Given the description of an element on the screen output the (x, y) to click on. 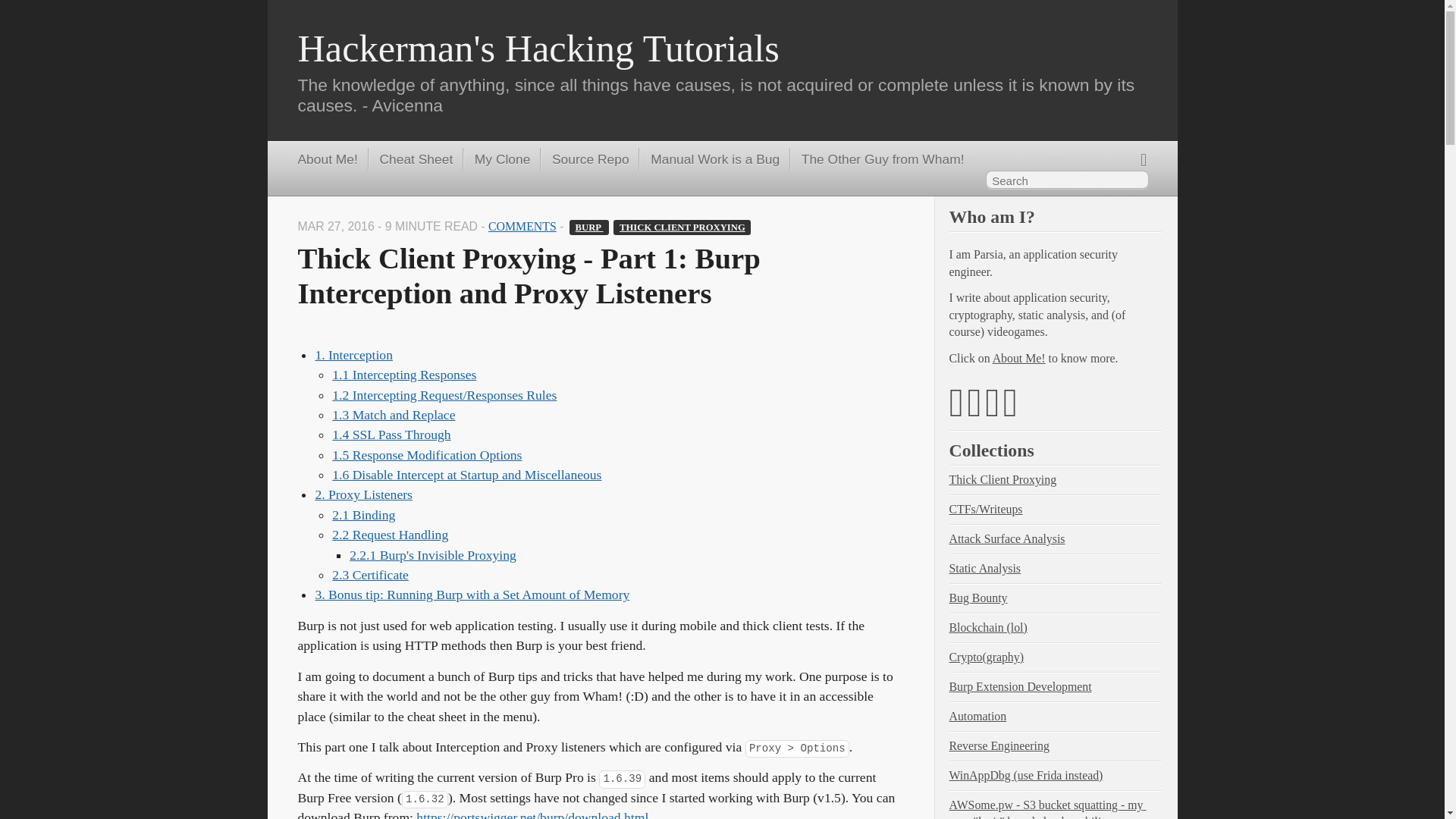
2.2.1 Burp's Invisible Proxying (432, 554)
Cheat Sheet (410, 159)
Cheat Sheet (410, 159)
1.4 SSL Pass Through (390, 434)
Source Repo (584, 159)
Source Repo (584, 159)
1.1 Intercepting Responses (403, 374)
About Me! (326, 159)
2.2 Request Handling (389, 534)
About Me! (326, 159)
3. Bonus tip: Running Burp with a Set Amount of Memory (471, 594)
THICK CLIENT PROXYING (681, 227)
1. Interception (353, 354)
1.5 Response Modification Options (426, 454)
Manual Work is a Bug (708, 159)
